Given the description of an element on the screen output the (x, y) to click on. 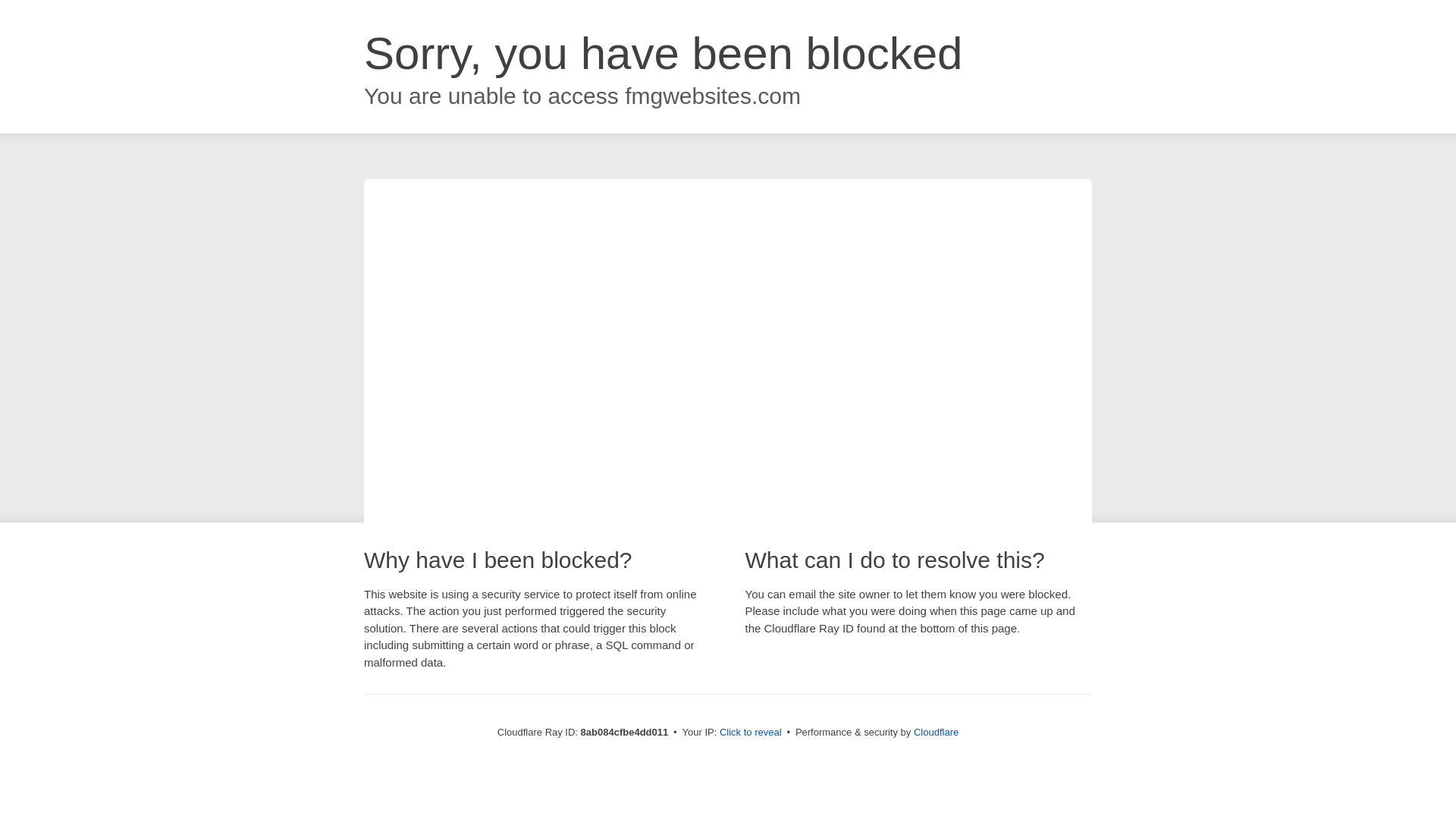
Click to reveal (750, 732)
Cloudflare (936, 731)
